Given the description of an element on the screen output the (x, y) to click on. 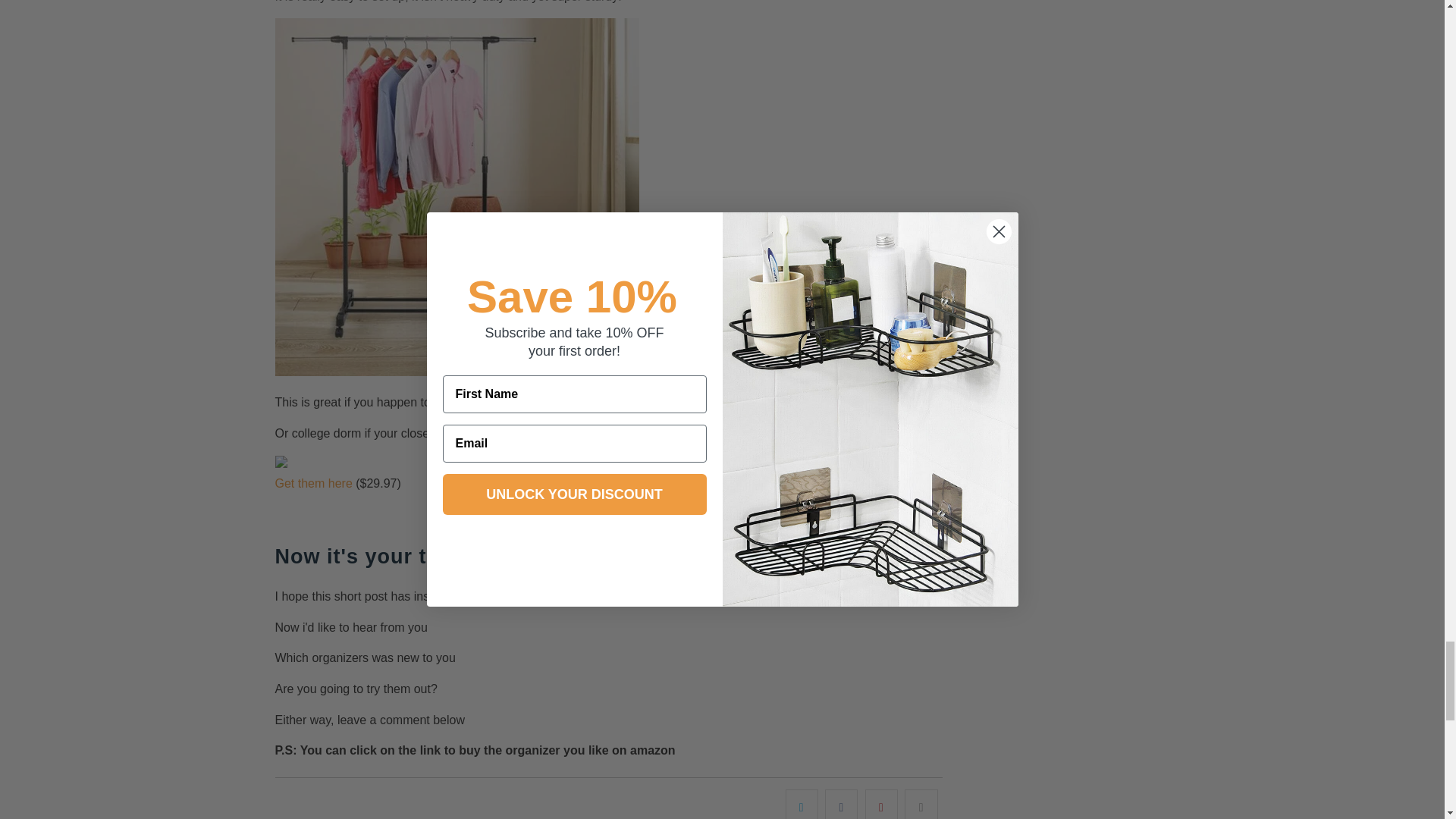
Share this on Facebook (841, 804)
Share this on Pinterest (881, 804)
Email this to a friend (920, 804)
Share this on Twitter (802, 804)
